Given the description of an element on the screen output the (x, y) to click on. 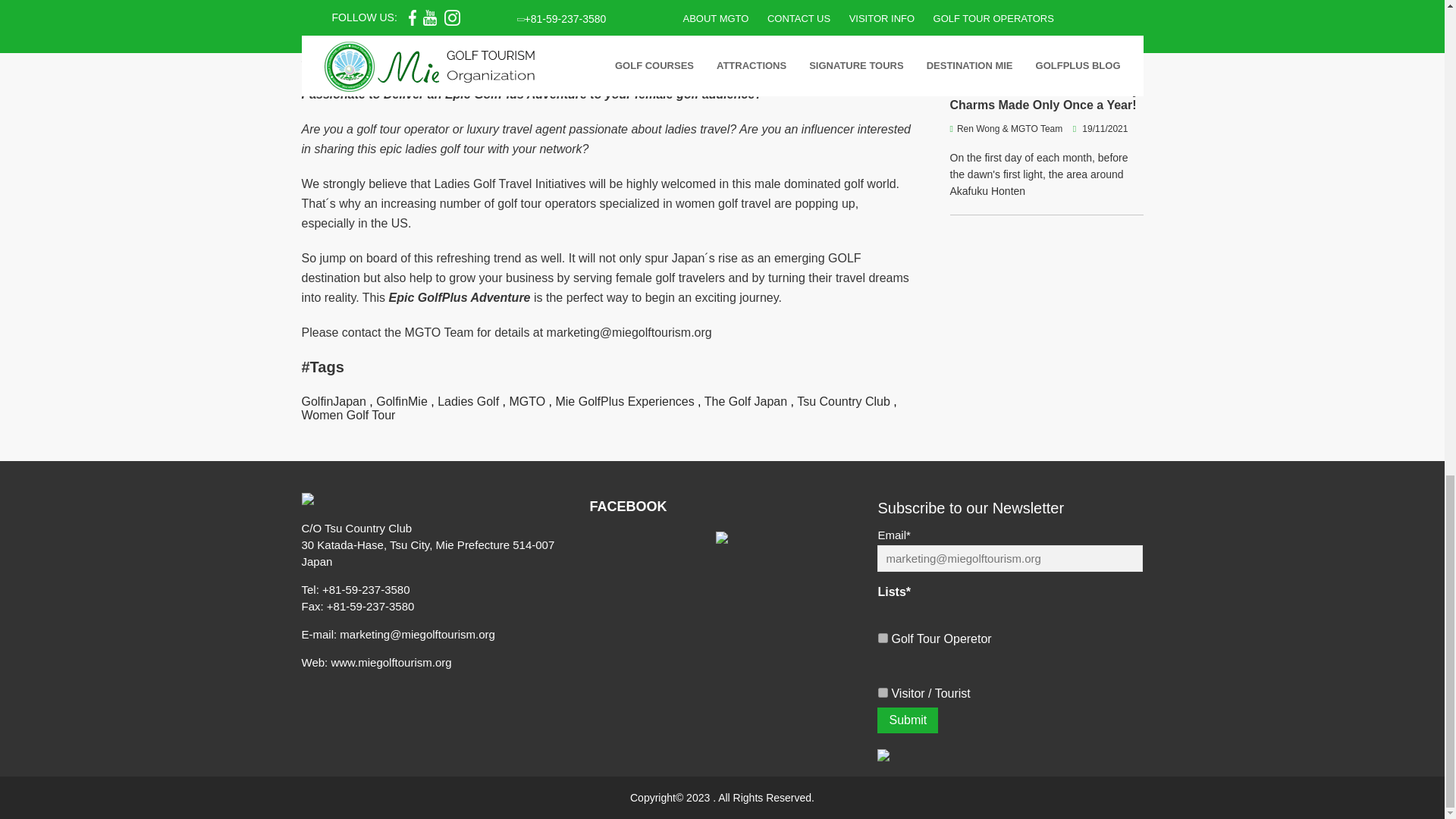
The Golf Japan (745, 400)
3466cfacc4d0 (882, 692)
Women Golf Tour (348, 414)
GolfinJapan (333, 400)
Submit (907, 720)
Tsu Country Club (842, 400)
9eec404a981c (882, 637)
MGTO (526, 400)
GolfinMie (401, 400)
HERE (489, 39)
